Given the description of an element on the screen output the (x, y) to click on. 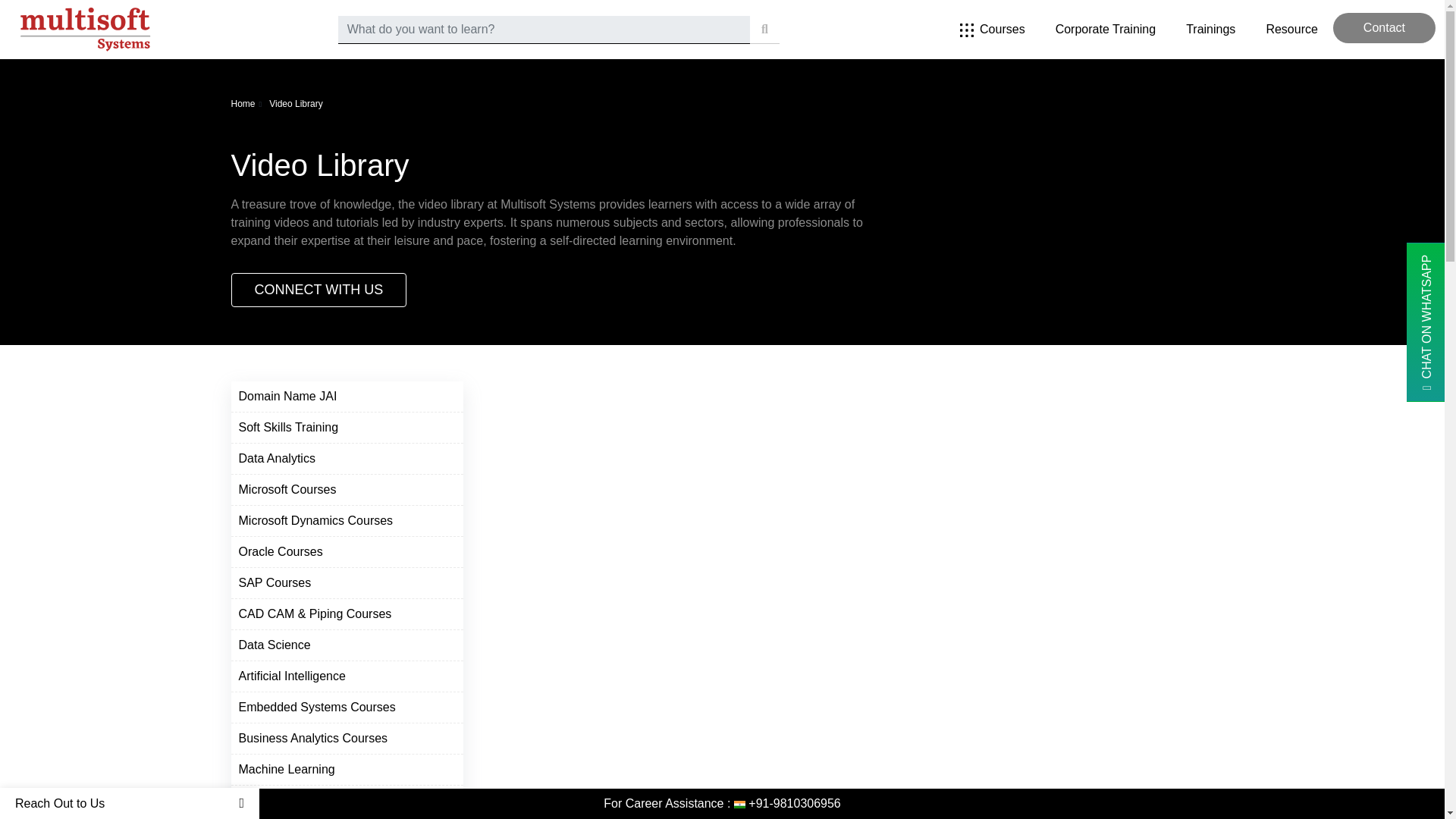
Courses (992, 29)
Corporate Training (1106, 29)
Trainings (1210, 29)
